Given the description of an element on the screen output the (x, y) to click on. 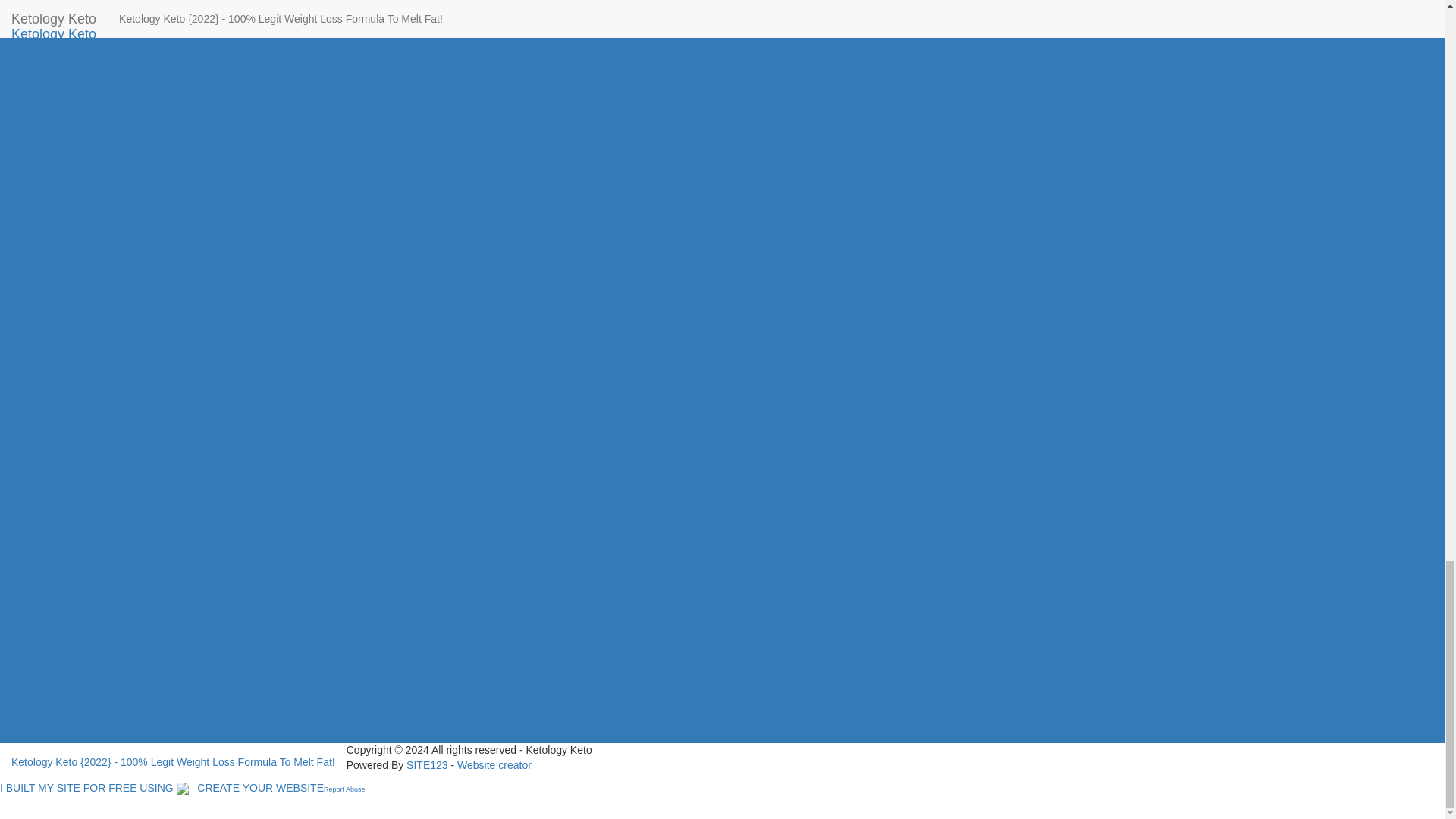
SITE123 (426, 765)
I BUILT MY SITE FOR FREE USING    CREATE YOUR WEBSITE (161, 787)
Report Abuse (344, 787)
Website creator (494, 765)
